Given the description of an element on the screen output the (x, y) to click on. 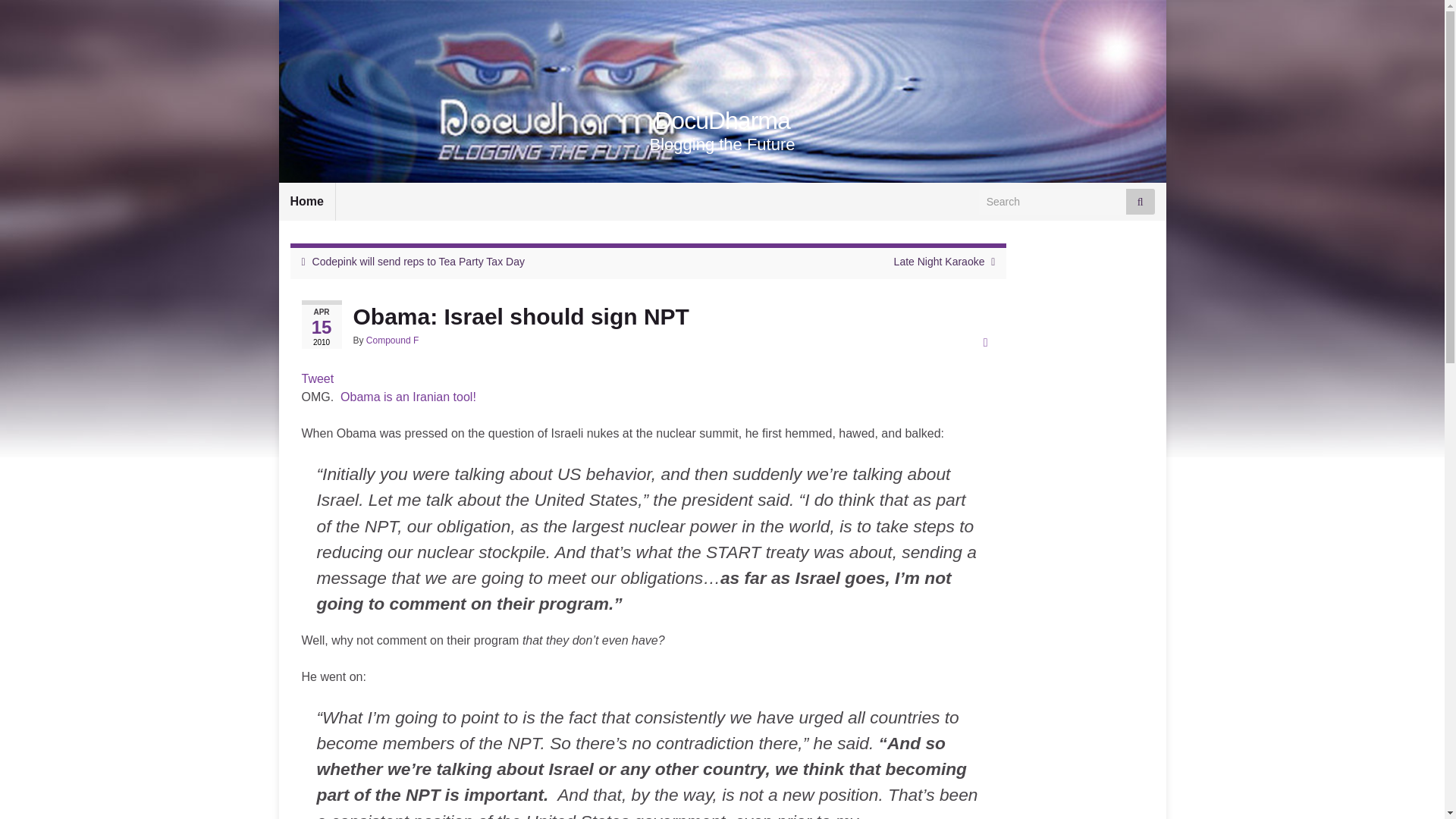
Codepink will send reps to Tea Party Tax Day (418, 261)
Go back to the front page (721, 120)
Compound F (392, 339)
DocuDharma (721, 120)
Late Night Karaoke (939, 261)
Tweet (317, 378)
Obama is an Iranian tool! (408, 396)
Home (306, 201)
